Given the description of an element on the screen output the (x, y) to click on. 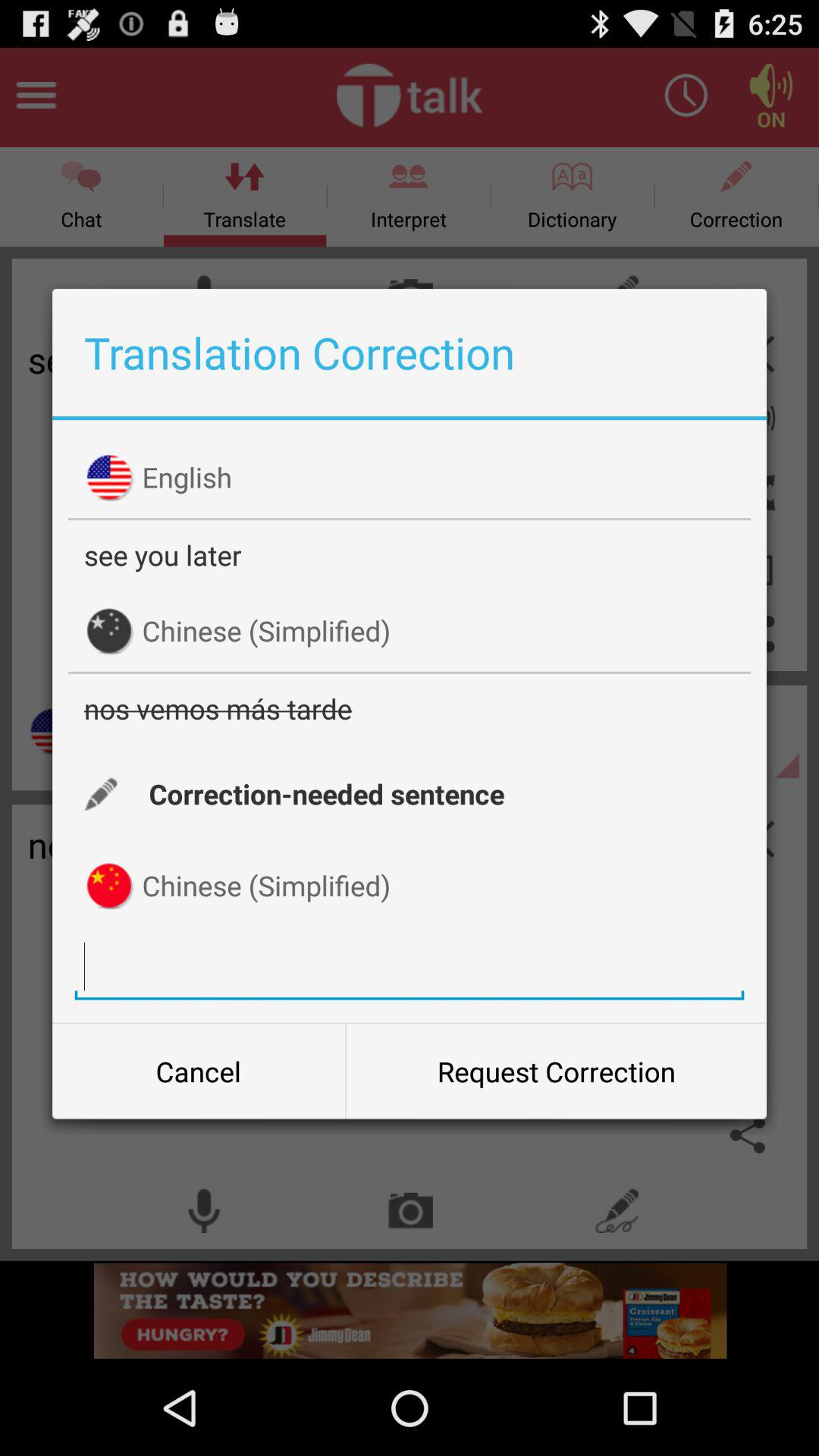
translation box (409, 966)
